Given the description of an element on the screen output the (x, y) to click on. 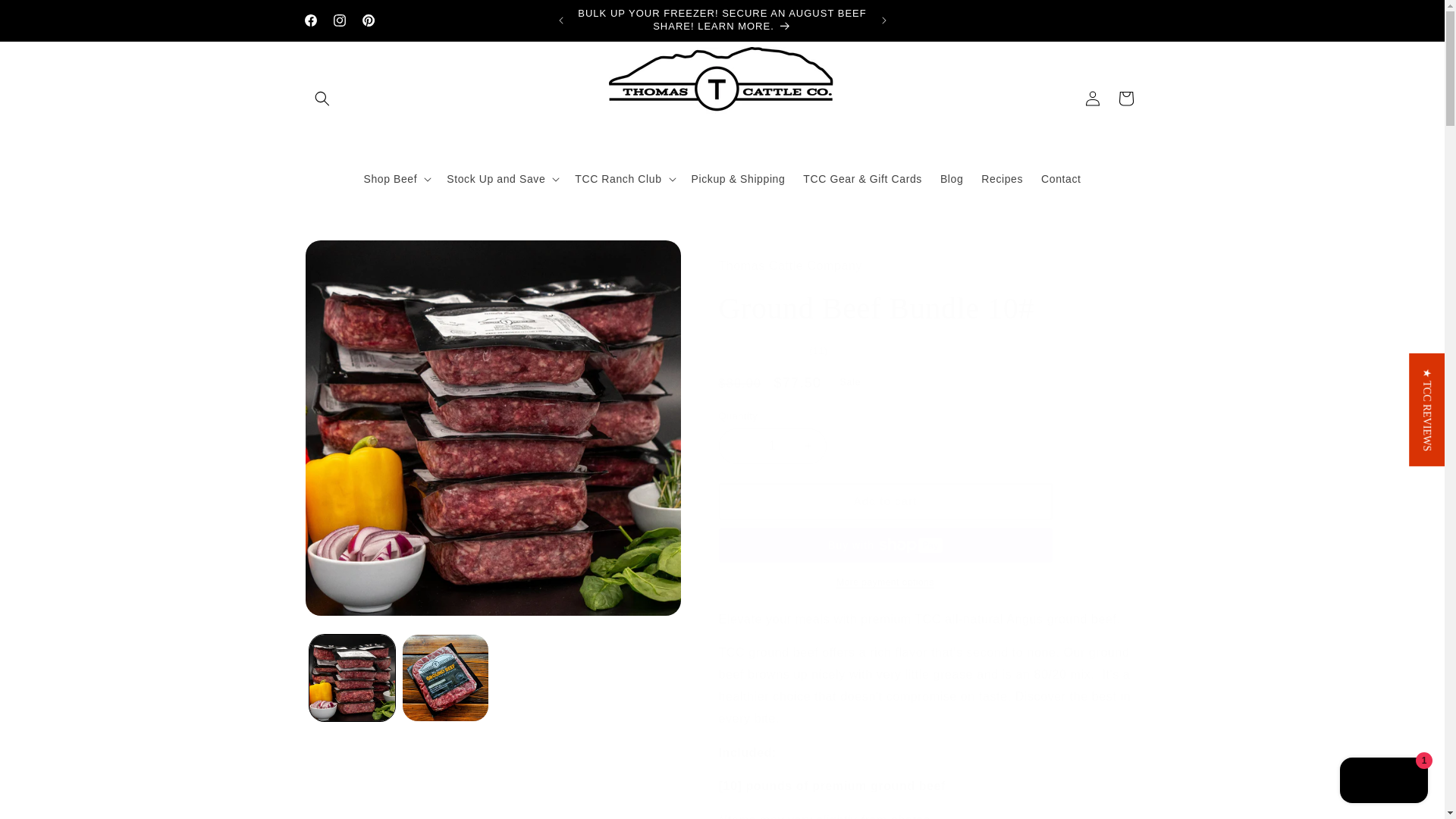
Facebook (309, 20)
Pinterest (367, 20)
1 (773, 446)
Shopify online store chat (1383, 781)
Instagram (338, 20)
Skip to content (46, 18)
